Given the description of an element on the screen output the (x, y) to click on. 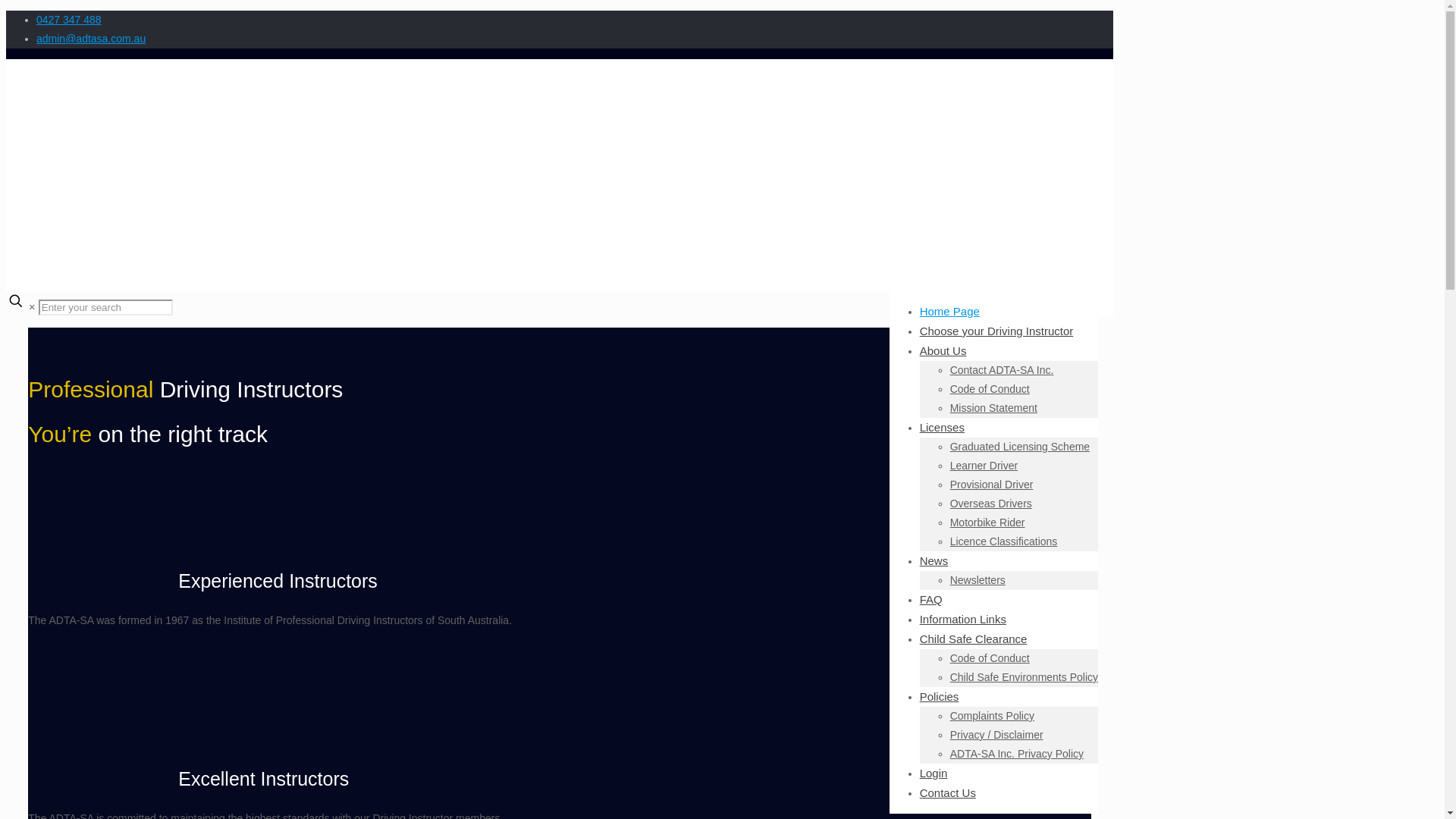
About Us (943, 350)
Learner Driver (983, 465)
Contact ADTA-SA Inc. (1002, 369)
Mission Statement (993, 408)
Complaints Policy (991, 715)
Home Page (949, 311)
Licenses (941, 427)
ADTA-SA (420, 210)
Choose your Driving Instructor (997, 330)
Code of Conduct (989, 657)
Graduated Licensing Scheme (1019, 446)
News (934, 560)
Child Safe Clearance (973, 638)
ADTA-SA Inc. Privacy Policy (1016, 753)
Code of Conduct (989, 388)
